Given the description of an element on the screen output the (x, y) to click on. 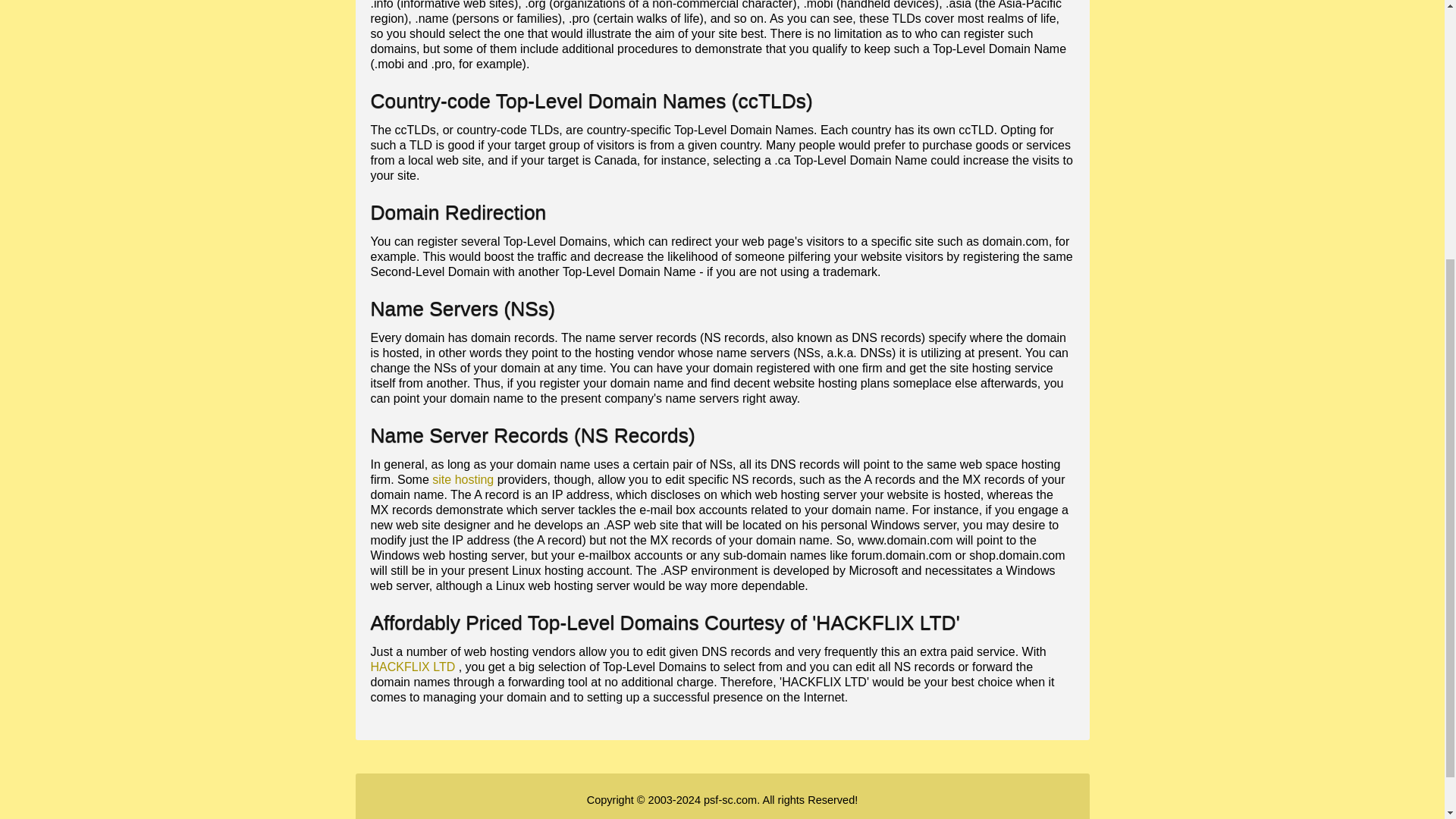
psf-sc.com (730, 799)
HACKFLIX LTD (411, 666)
site hosting (462, 479)
